Given the description of an element on the screen output the (x, y) to click on. 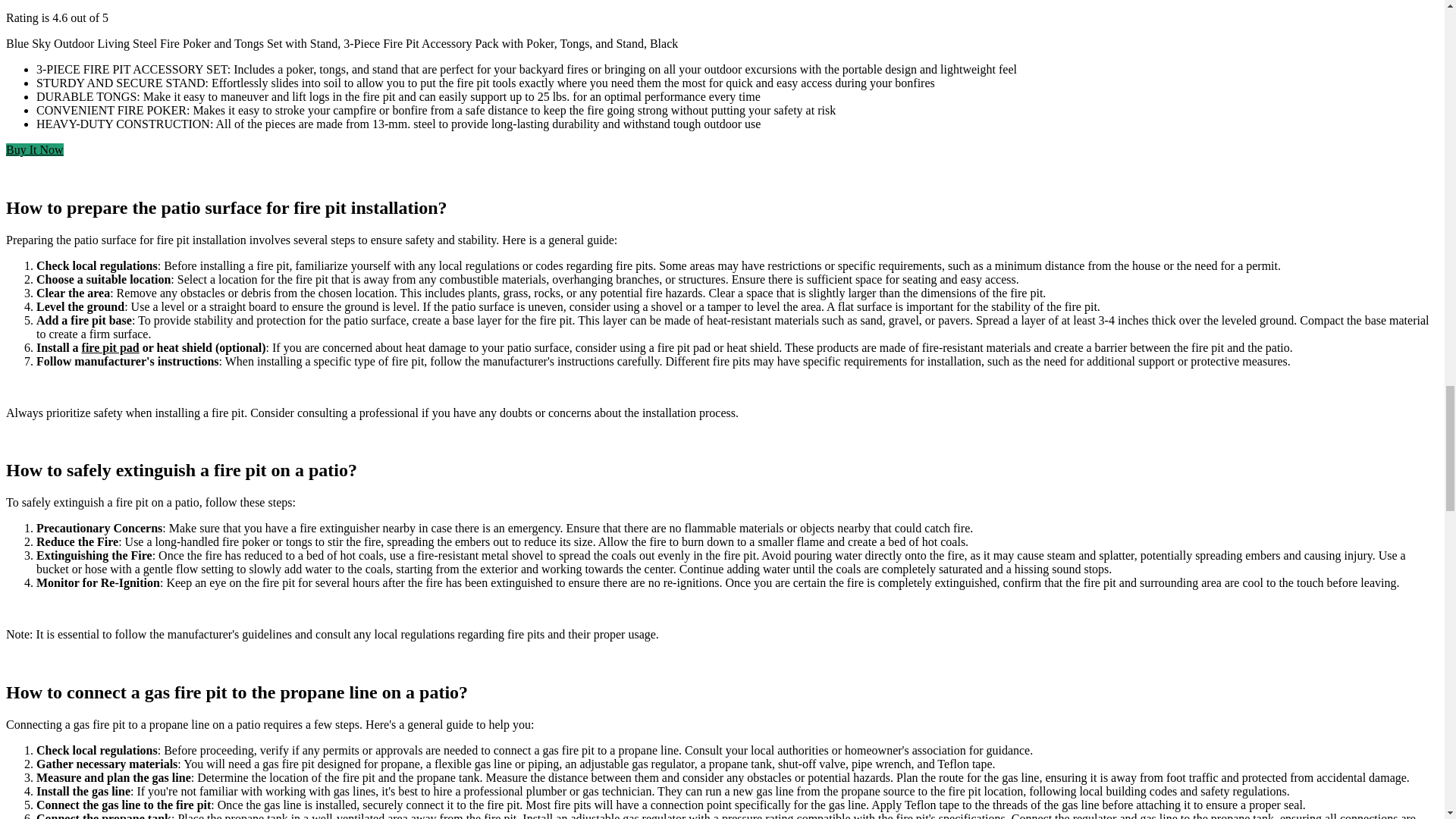
Buy It Now (34, 149)
